Given the description of an element on the screen output the (x, y) to click on. 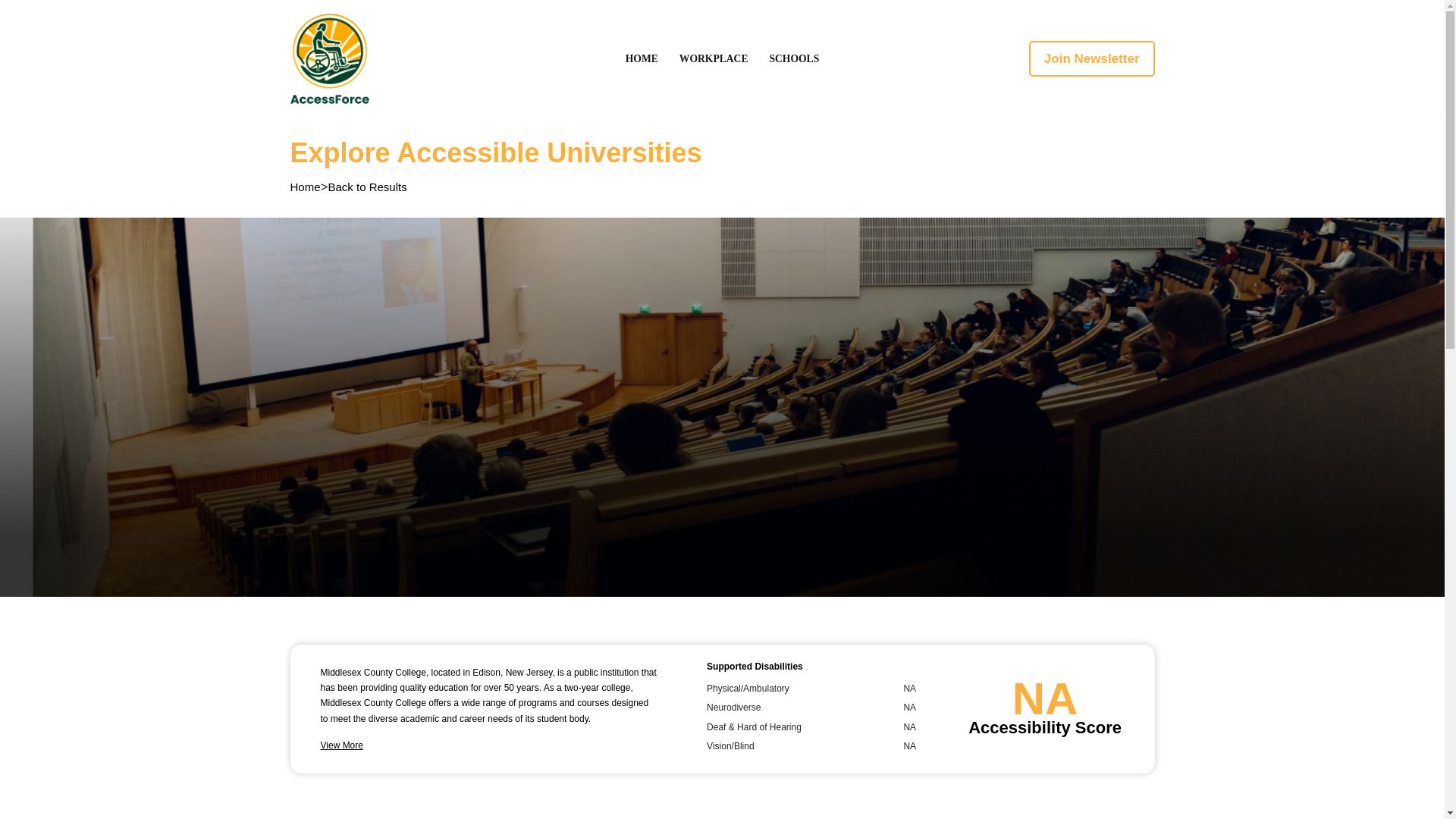
Skip to content (11, 31)
HOME (642, 58)
Join Newsletter (1091, 58)
WORKPLACE (713, 58)
Home (304, 186)
View More (341, 744)
SCHOOLS (793, 58)
Back to Results (366, 186)
